Given the description of an element on the screen output the (x, y) to click on. 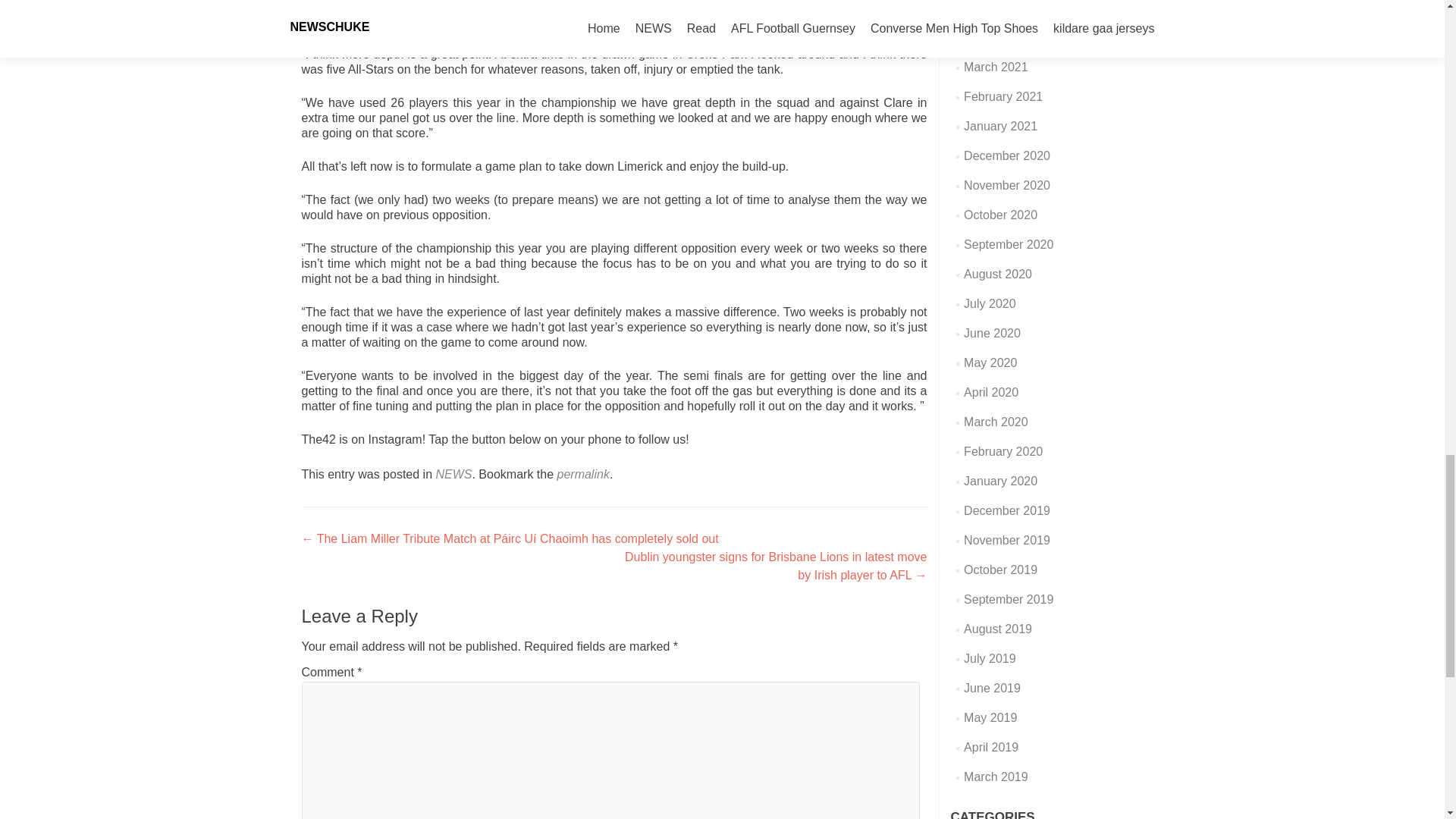
permalink (583, 473)
NEWS (453, 473)
